Given the description of an element on the screen output the (x, y) to click on. 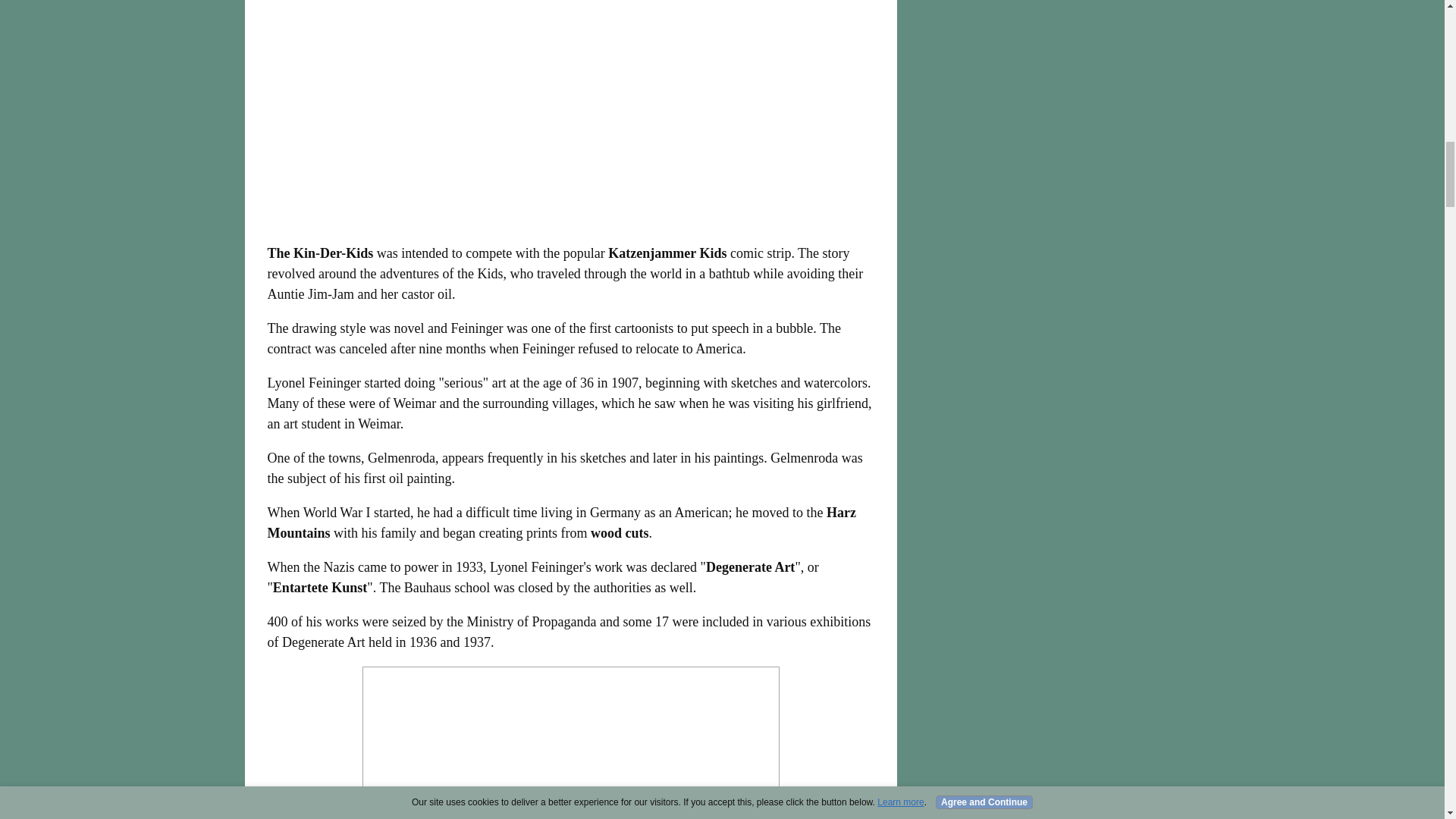
Degenerate Art Exhibit, Hitler and Goebbels attending (570, 742)
